Given the description of an element on the screen output the (x, y) to click on. 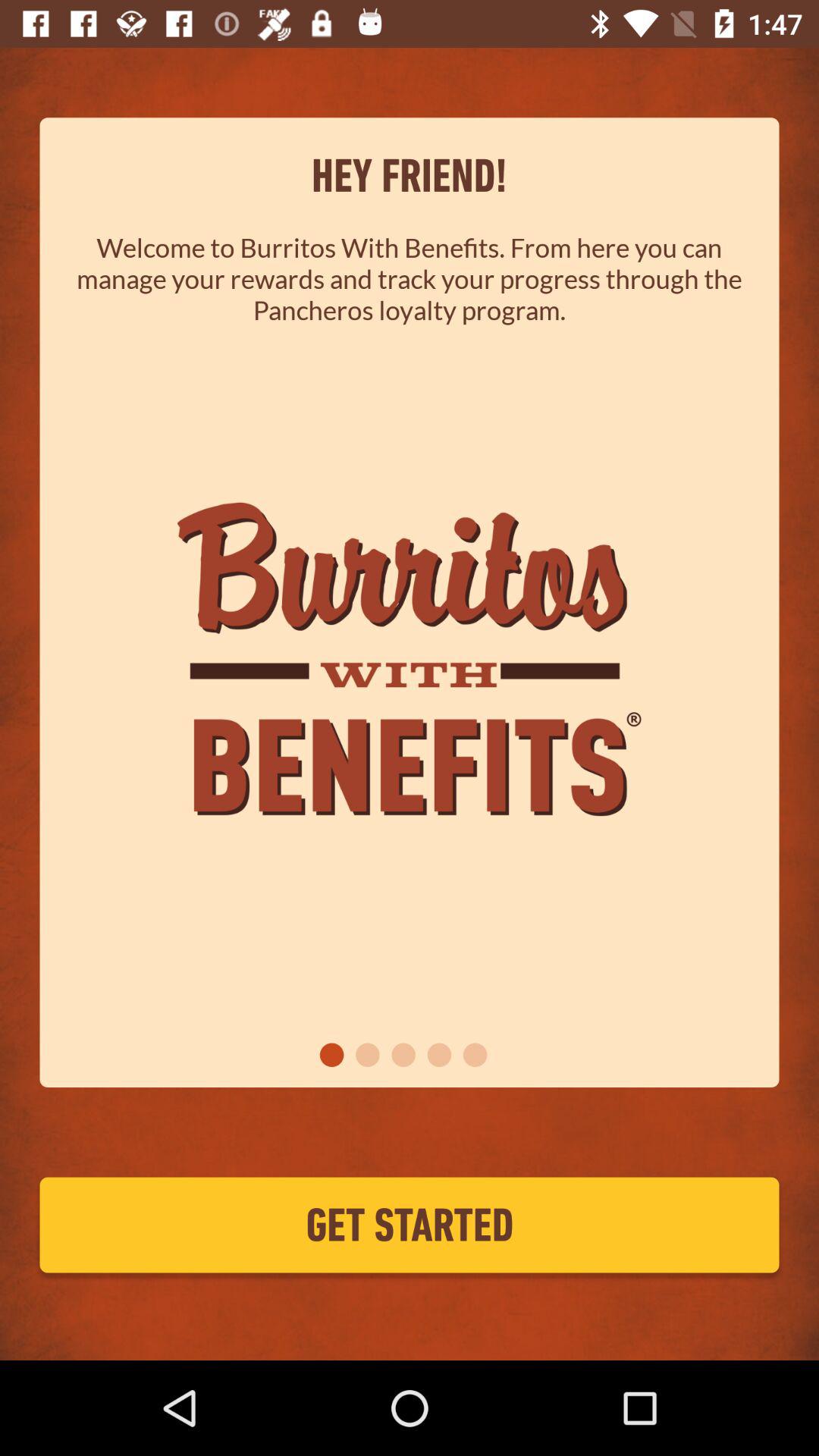
select get started (409, 1224)
